Given the description of an element on the screen output the (x, y) to click on. 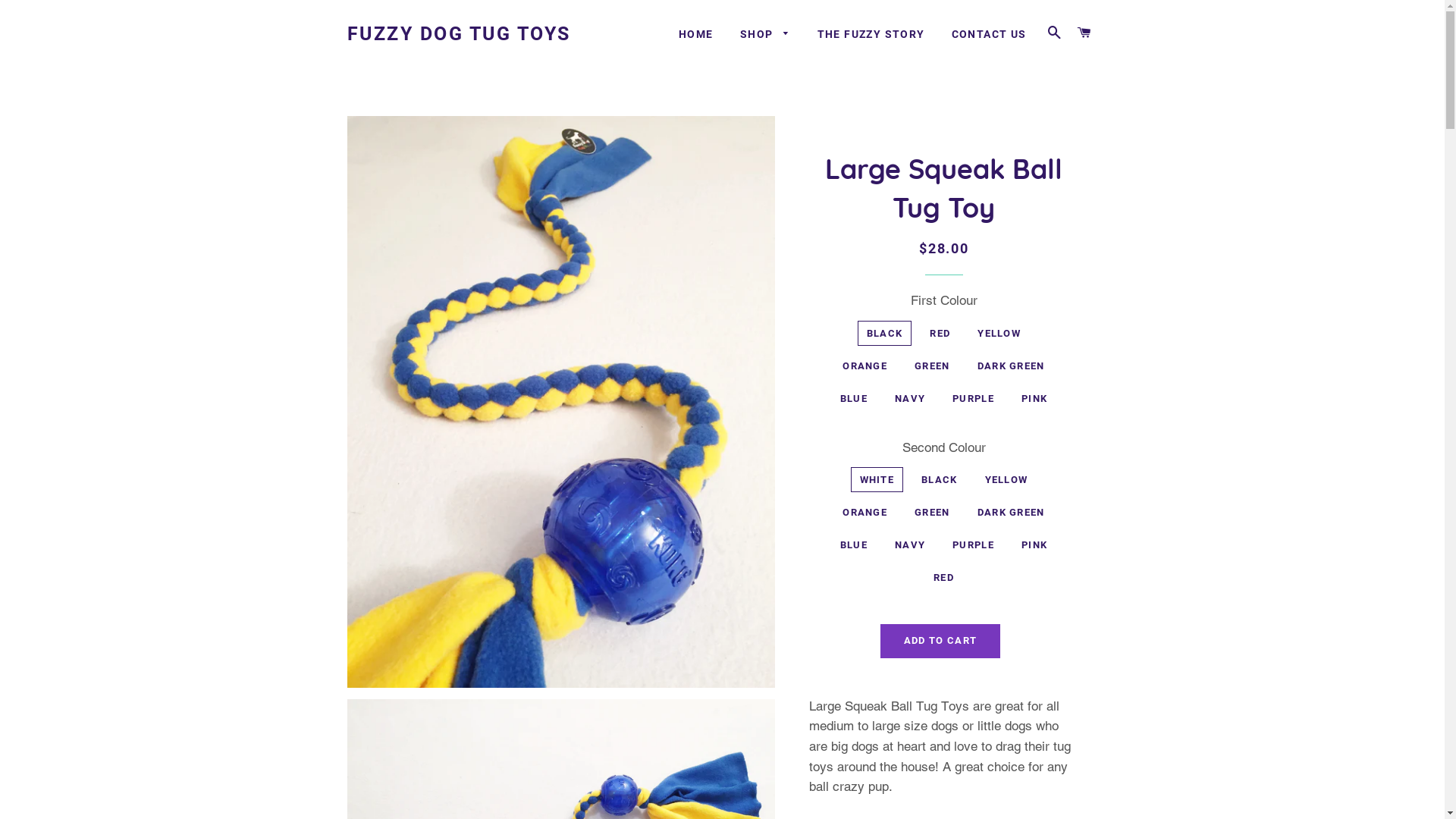
CONTACT US Element type: text (989, 34)
ADD TO CART Element type: text (940, 640)
CART Element type: text (1084, 33)
HOME Element type: text (695, 34)
FUZZY DOG TUG TOYS Element type: text (459, 33)
SEARCH Element type: text (1054, 33)
SHOP Element type: text (765, 34)
THE FUZZY STORY Element type: text (871, 34)
